Given the description of an element on the screen output the (x, y) to click on. 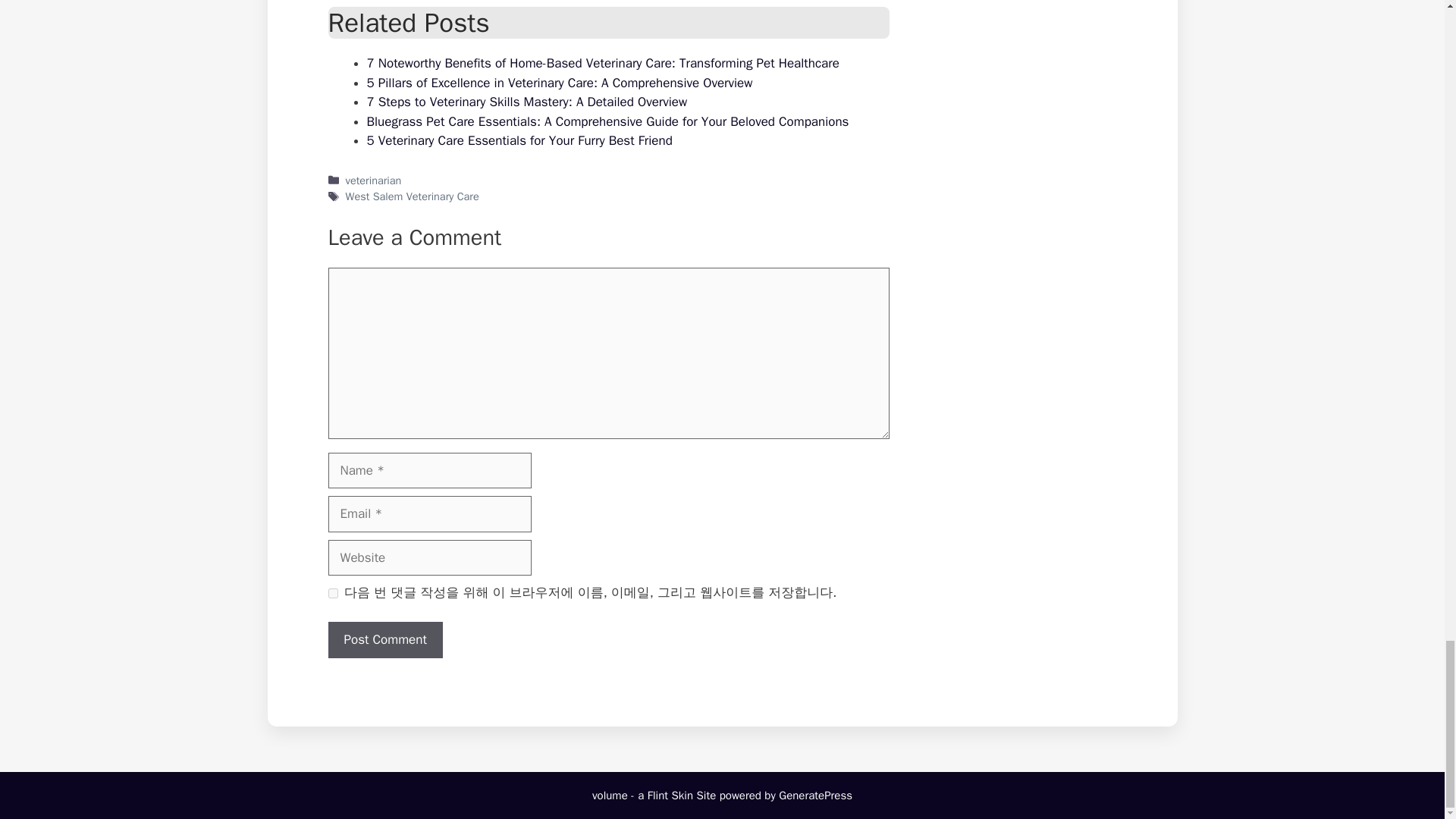
West Salem Veterinary Care (412, 196)
Post Comment (384, 639)
yes (332, 593)
Post Comment (384, 639)
7 Steps to Veterinary Skills Mastery: A Detailed Overview (526, 101)
veterinarian (373, 180)
5 Veterinary Care Essentials for Your Furry Best Friend (519, 140)
